Given the description of an element on the screen output the (x, y) to click on. 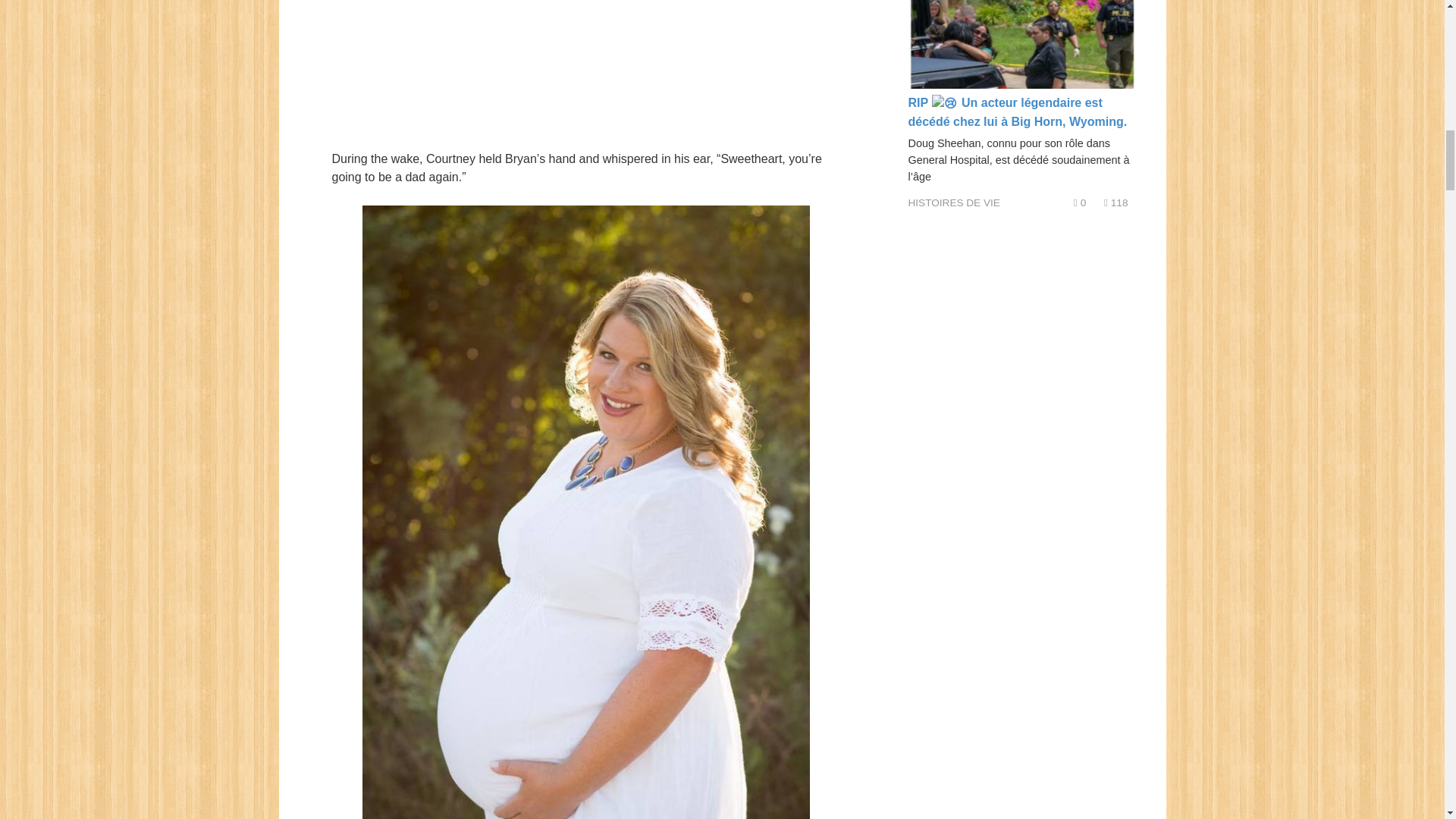
Advertisement (585, 74)
